Given the description of an element on the screen output the (x, y) to click on. 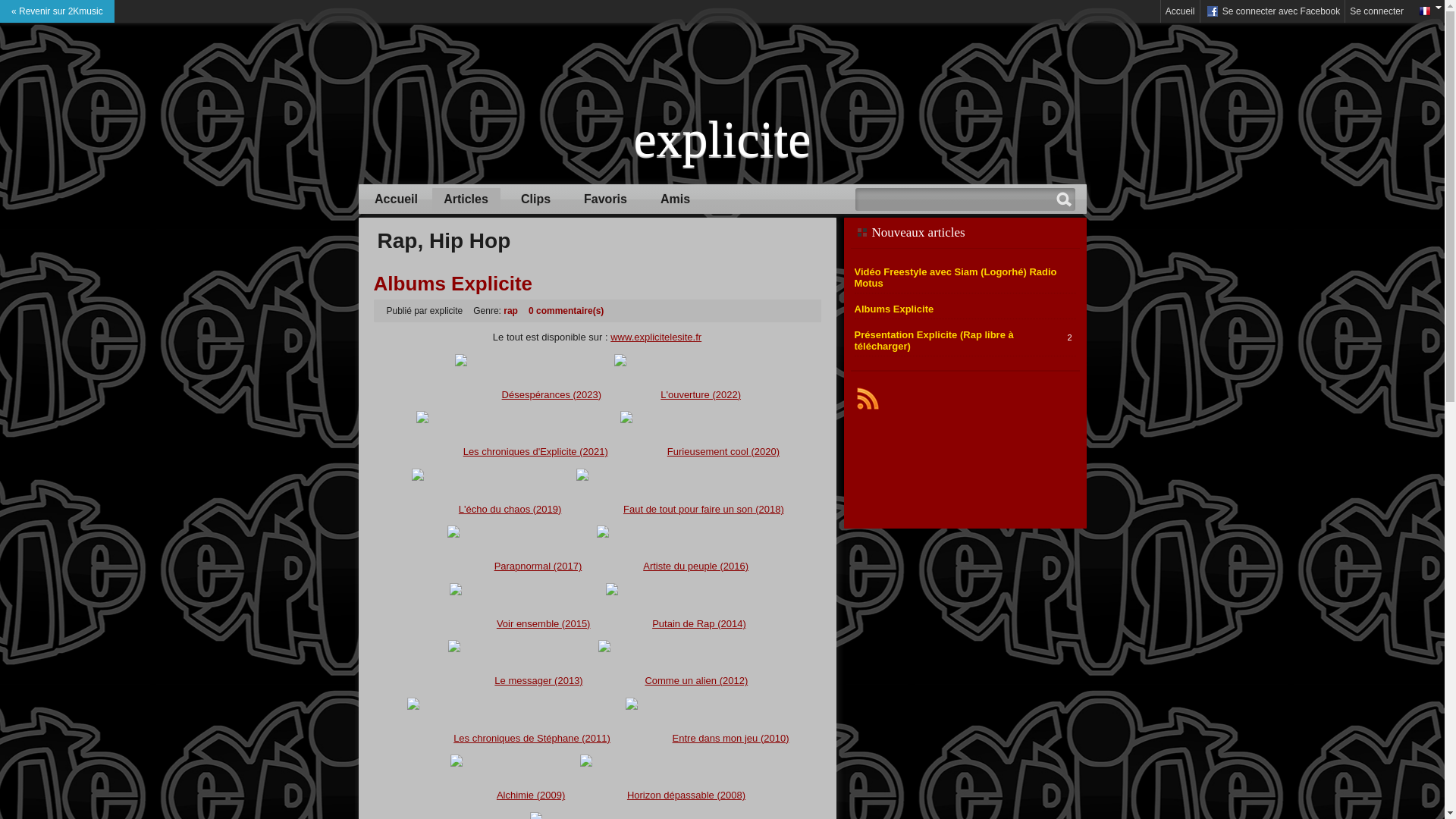
Amis Element type: text (675, 199)
rap Element type: text (510, 310)
Les chroniques d'Explicite (2021) Element type: text (535, 451)
Accueil Element type: text (396, 199)
0 commentaire(s) Element type: text (565, 310)
Alchimie (2009) Element type: text (530, 794)
Le messager (2013) Element type: text (538, 680)
Voir ensemble (2015) Element type: text (543, 622)
Se connecter Element type: text (1376, 11)
Putain de Rap (2014) Element type: text (699, 622)
Furieusement cool (2020) Element type: text (723, 451)
Parapnormal (2017) Element type: text (538, 565)
L'ouverture (2022) Element type: text (700, 393)
Clips Element type: text (536, 199)
Articles Element type: text (466, 199)
 Se connecter avec Facebook Element type: text (1272, 11)
  Element type: text (867, 397)
www.explicitelesite.fr Element type: text (655, 336)
Favoris Element type: text (605, 199)
Comme un alien (2012) Element type: text (695, 680)
explicite Element type: text (722, 139)
Faut de tout pour faire un son (2018) Element type: text (703, 508)
Albums Explicite Element type: text (893, 308)
Accueil Element type: text (1180, 11)
Albums Explicite Element type: text (452, 283)
Artiste du peuple (2016) Element type: text (695, 565)
Entre dans mon jeu (2010) Element type: text (730, 737)
